Given the description of an element on the screen output the (x, y) to click on. 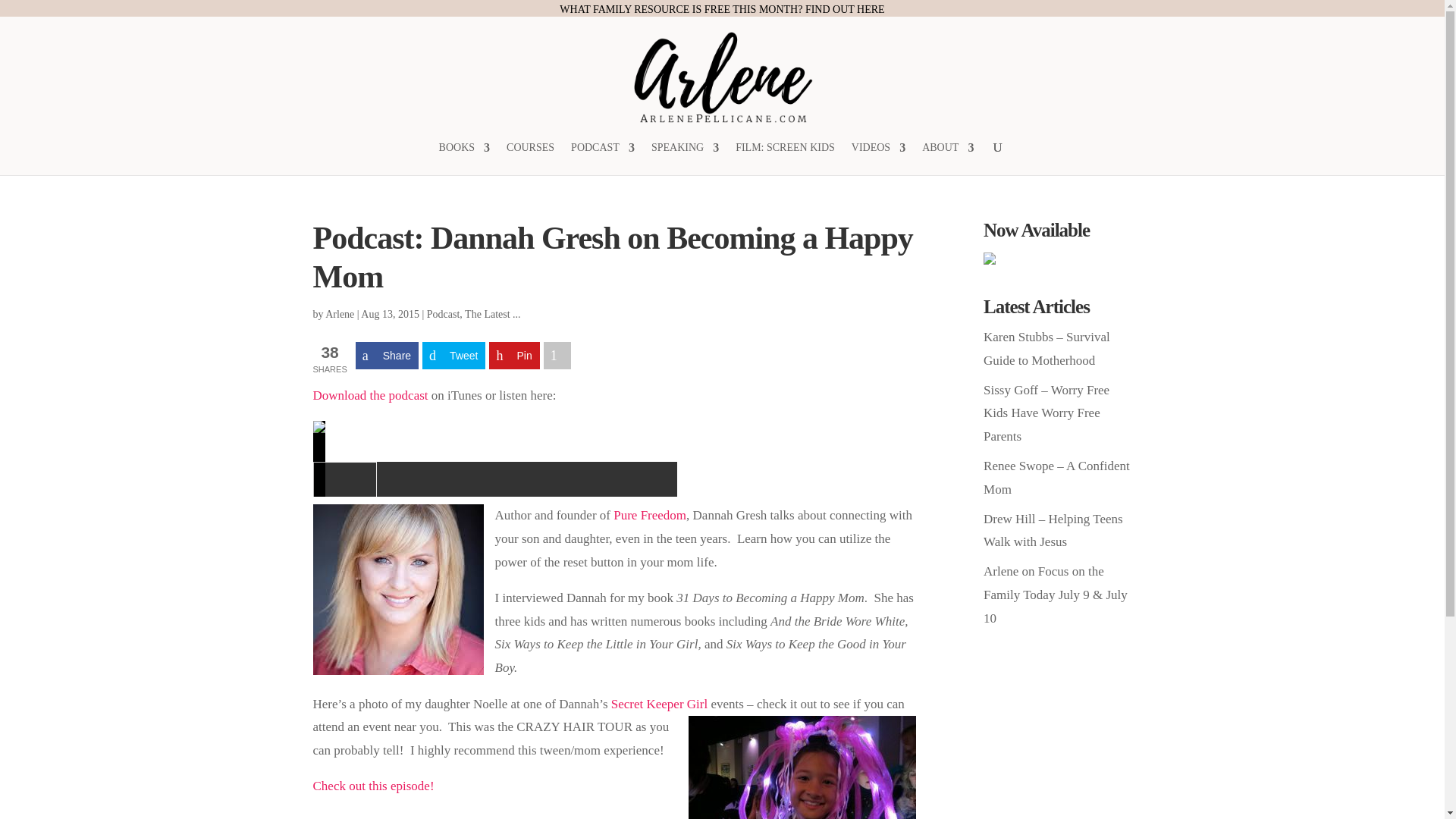
Share (387, 355)
FILM: SCREEN KIDS (784, 158)
PODCAST (602, 158)
COURSES (530, 158)
Pin (513, 355)
Arlene (338, 314)
Podcast (443, 314)
BOOKS (464, 158)
ABOUT (947, 158)
VIDEOS (878, 158)
